Given the description of an element on the screen output the (x, y) to click on. 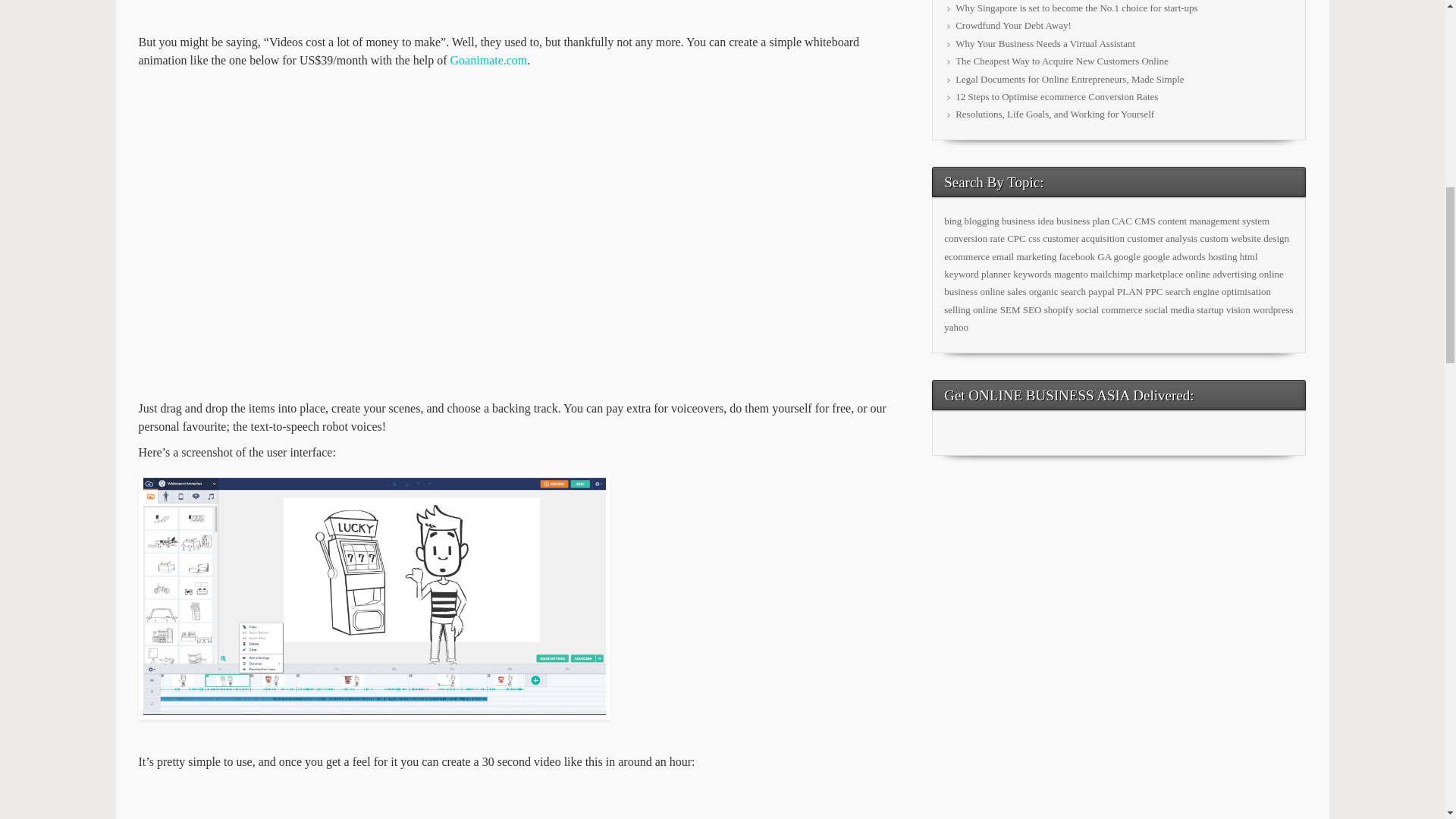
Goanimate.com (488, 60)
